Given the description of an element on the screen output the (x, y) to click on. 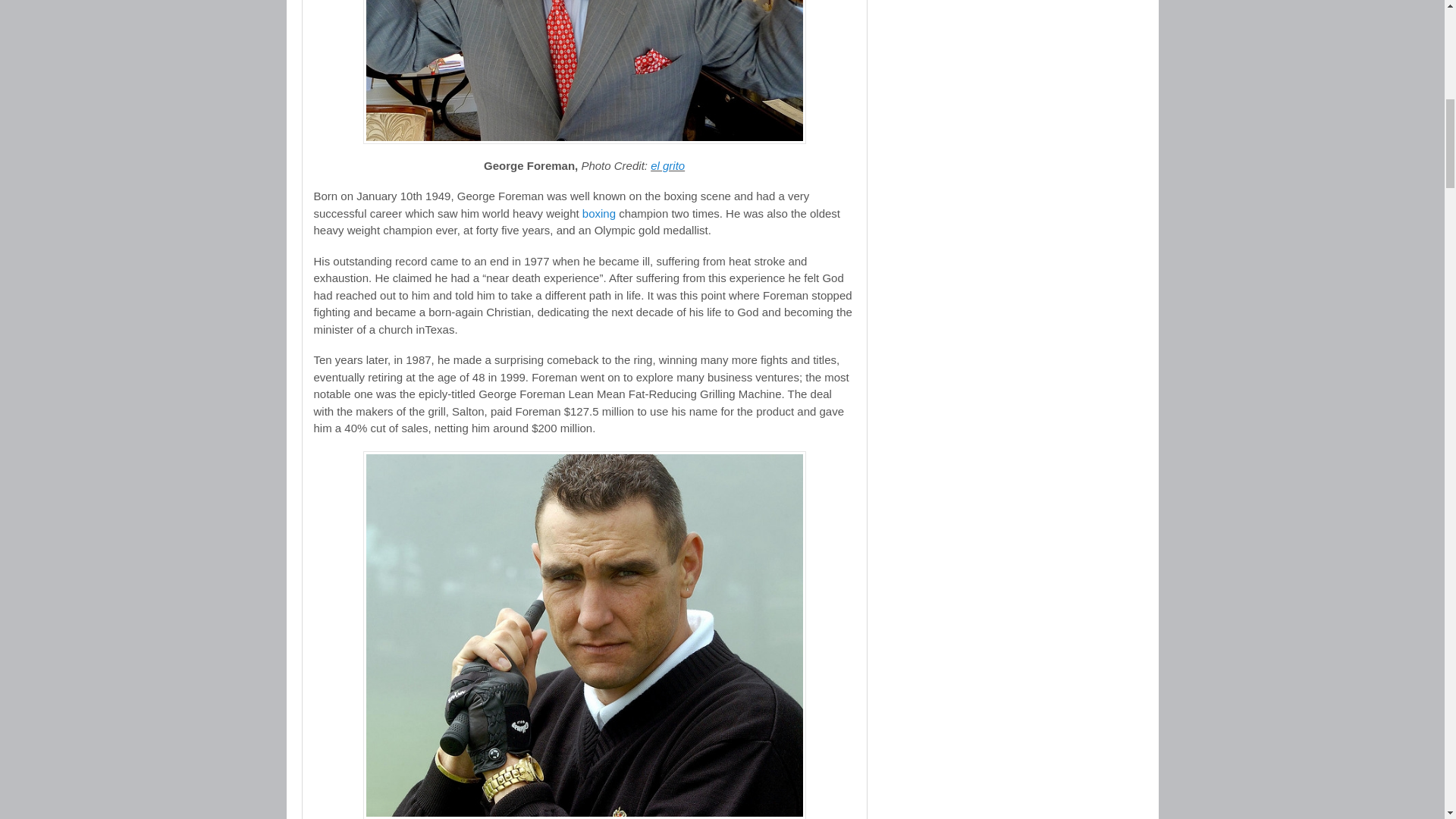
foreman (584, 72)
